Given the description of an element on the screen output the (x, y) to click on. 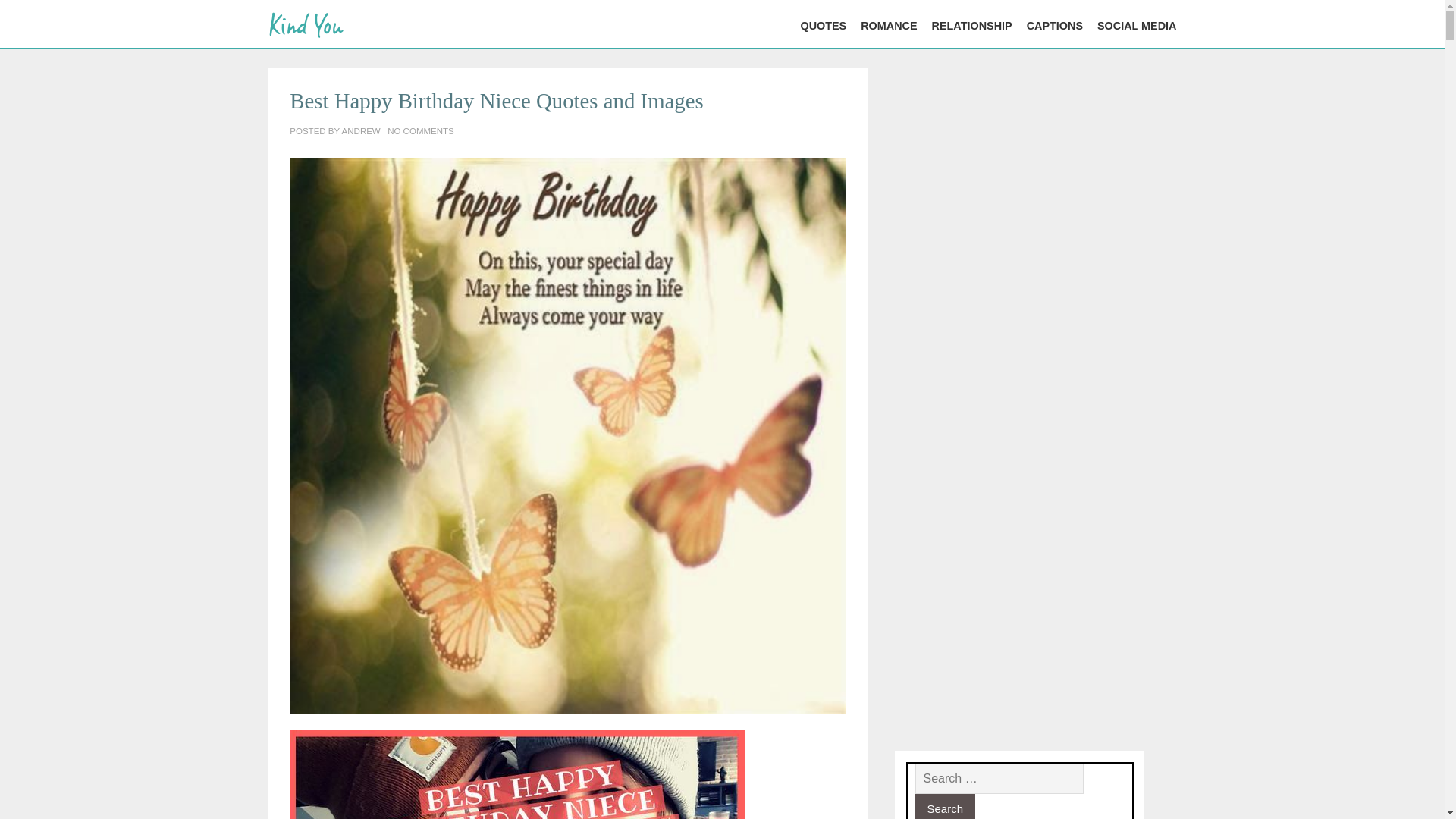
Search (944, 806)
Search (944, 806)
